Given the description of an element on the screen output the (x, y) to click on. 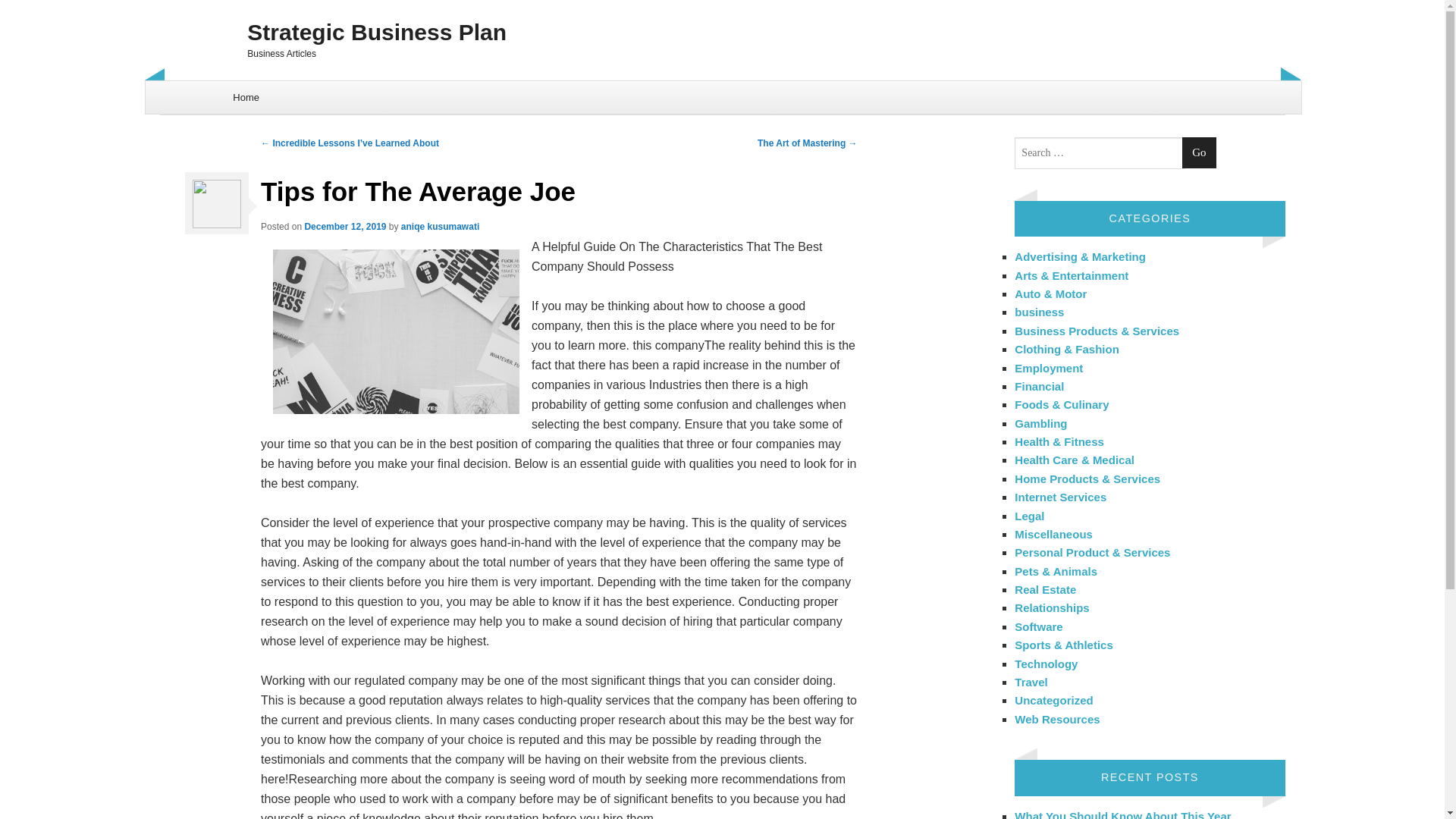
Skip to content (183, 89)
Miscellaneous (1053, 533)
Real Estate (1044, 589)
Financial (1039, 386)
Strategic Business Plan (721, 31)
Internet Services (1060, 496)
Travel (1030, 681)
Skip to content (183, 89)
Go (1198, 152)
View all posts by aniqe kusumawati (440, 226)
